Given the description of an element on the screen output the (x, y) to click on. 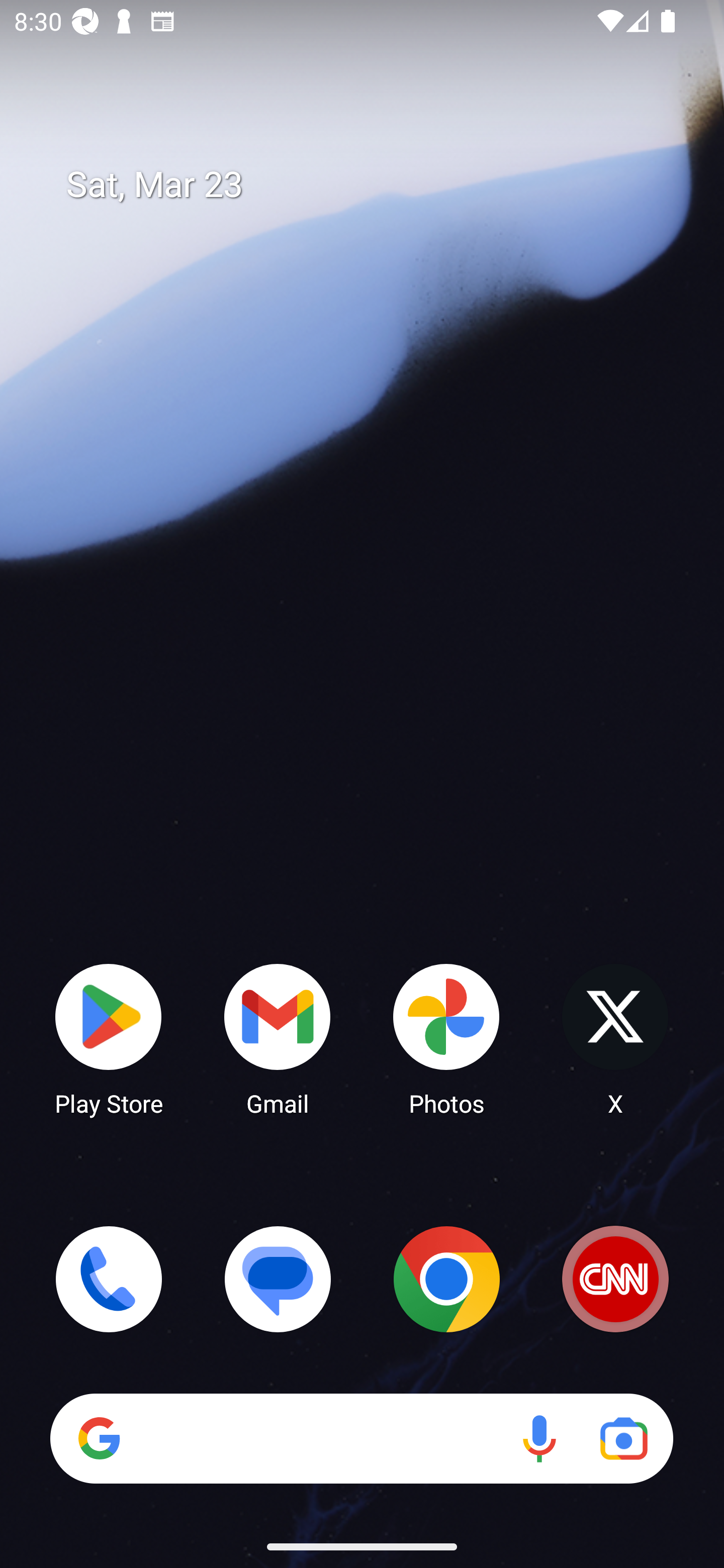
Sat, Mar 23 (375, 184)
Play Store (108, 1038)
Gmail (277, 1038)
Photos (445, 1038)
X (615, 1038)
Phone (108, 1279)
Messages (277, 1279)
Chrome (446, 1279)
CNN Predicted app: CNN (615, 1279)
Voice search (539, 1438)
Google Lens (623, 1438)
